Given the description of an element on the screen output the (x, y) to click on. 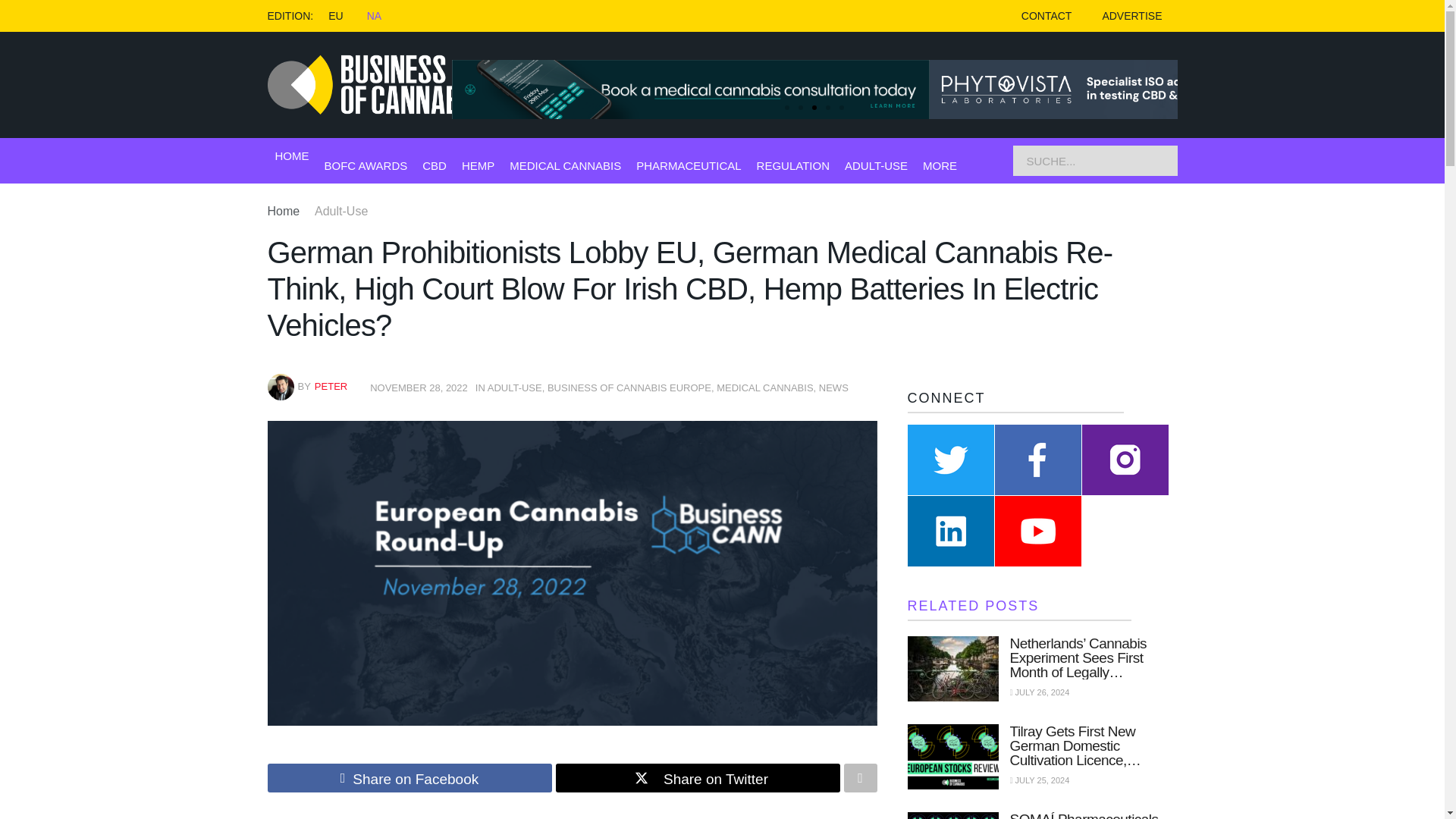
CBD (434, 165)
BOFC AWARDS (365, 165)
REGULATION (793, 165)
ADVERTISE (1131, 15)
MEDICAL CANNABIS (565, 165)
PHARMACEUTICAL (688, 165)
HEMP (478, 165)
MORE (939, 165)
CONTACT (1046, 15)
HOME (291, 156)
ADULT-USE (875, 165)
